Given the description of an element on the screen output the (x, y) to click on. 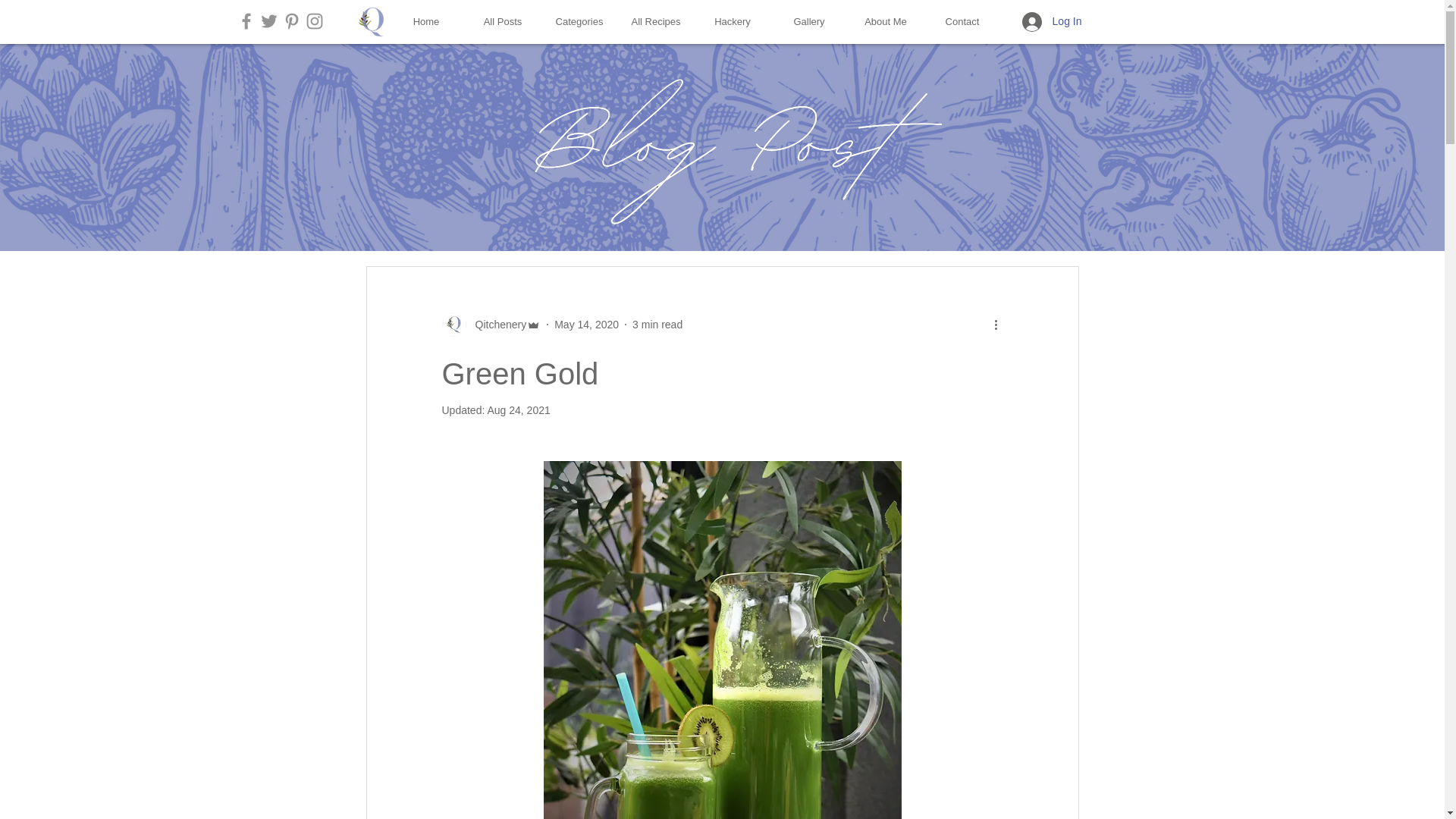
All Recipes (655, 21)
Qitchenery (495, 324)
About Me (885, 21)
May 14, 2020 (586, 324)
Contact (961, 21)
Hackery (732, 21)
Aug 24, 2021 (518, 410)
Qitchenery (490, 324)
Categories (579, 21)
All Posts (502, 21)
Gallery (808, 21)
Log In (1052, 21)
3 min read (656, 324)
Home (426, 21)
